Given the description of an element on the screen output the (x, y) to click on. 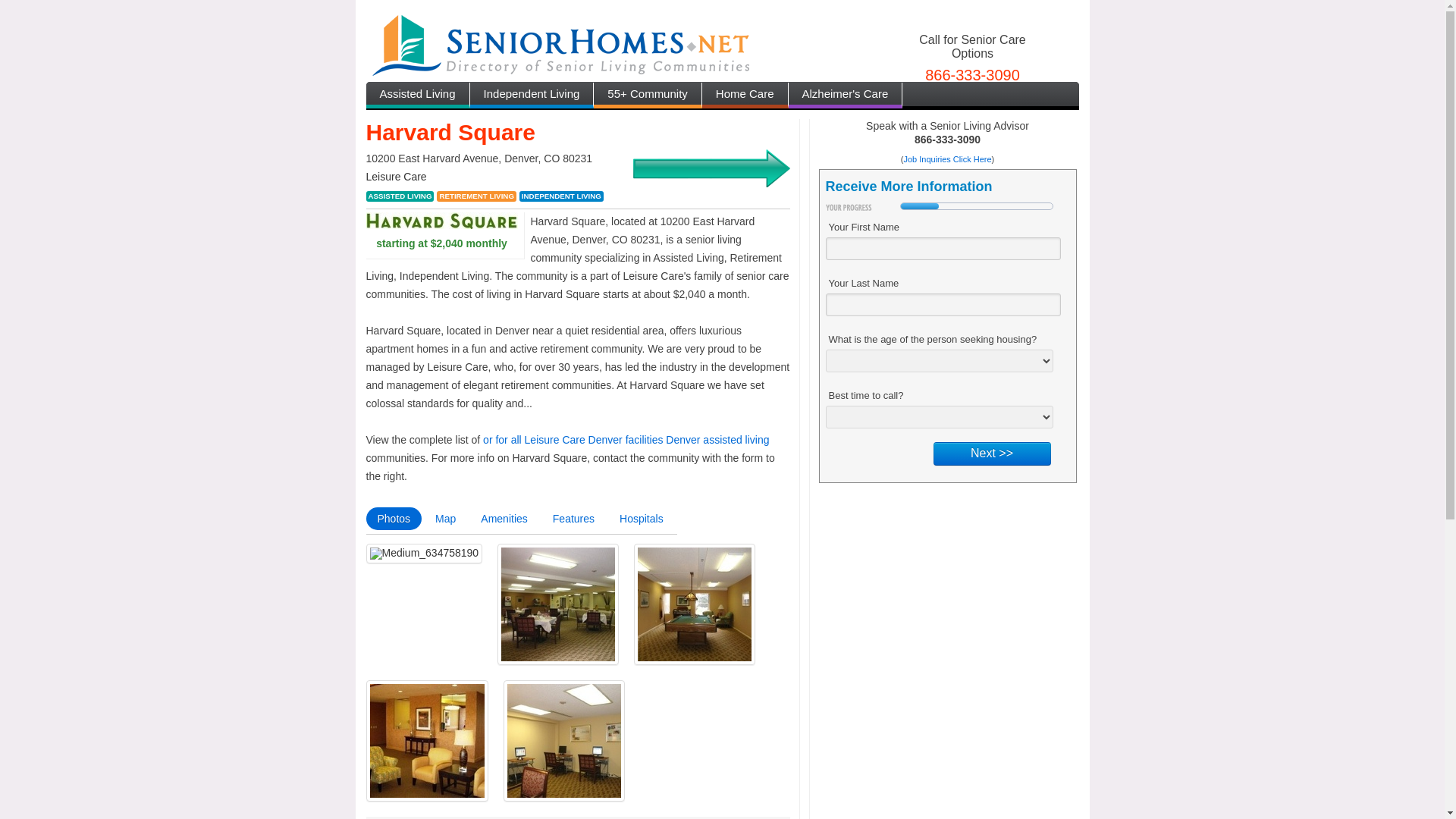
Hospitals (641, 517)
Independent Living (532, 95)
Amenities (503, 517)
Assisted Living (416, 95)
Denver assisted living (716, 439)
Job Inquiries Click Here (946, 158)
Photos (393, 517)
Alzheimer's Care (845, 95)
or for all Leisure Care Denver facilities (572, 439)
Home Care (745, 95)
Map (445, 517)
Features (573, 517)
